Given the description of an element on the screen output the (x, y) to click on. 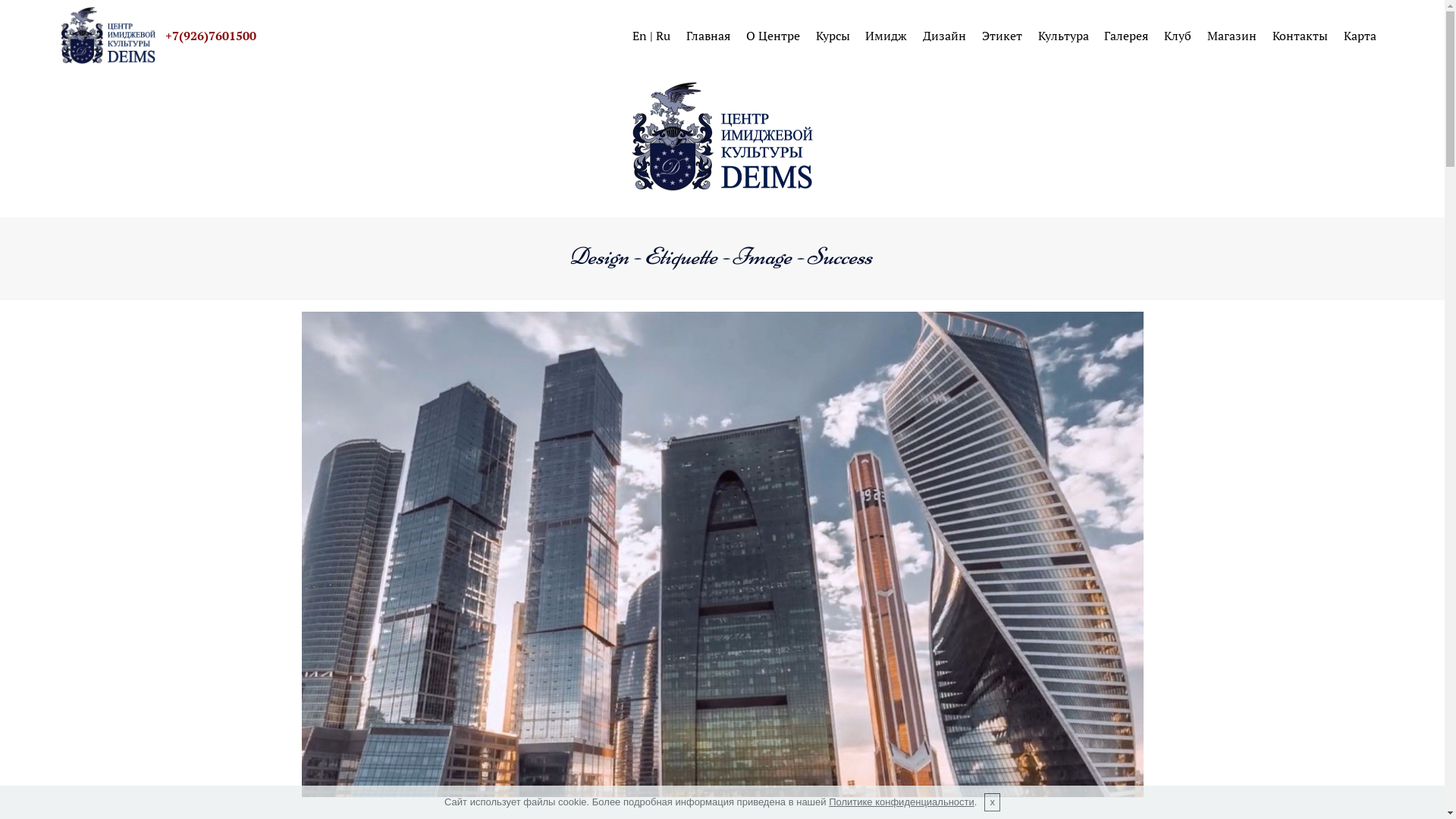
En | Ru Element type: text (651, 35)
x Element type: text (992, 802)
+7(926)7601500 Element type: text (222, 35)
